Given the description of an element on the screen output the (x, y) to click on. 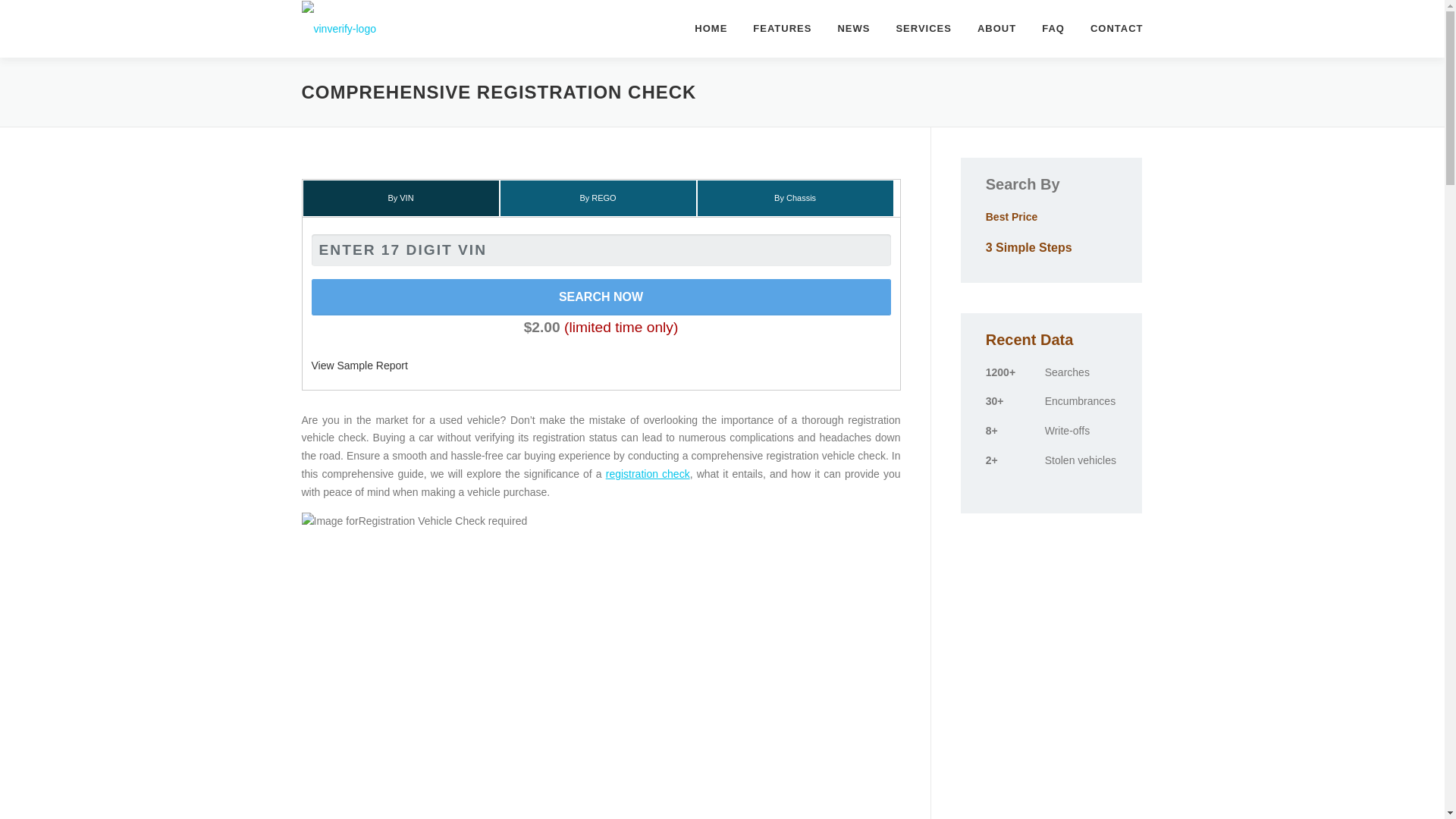
ABOUT (996, 28)
SERVICES (922, 28)
CONTACT (1109, 28)
registration check (647, 473)
By Chassis (795, 198)
NEWS (853, 28)
HOME (710, 28)
By REGO (598, 198)
SEARCH NOW (600, 297)
By VIN (400, 198)
View Sample Report (359, 365)
FEATURES (781, 28)
